Given the description of an element on the screen output the (x, y) to click on. 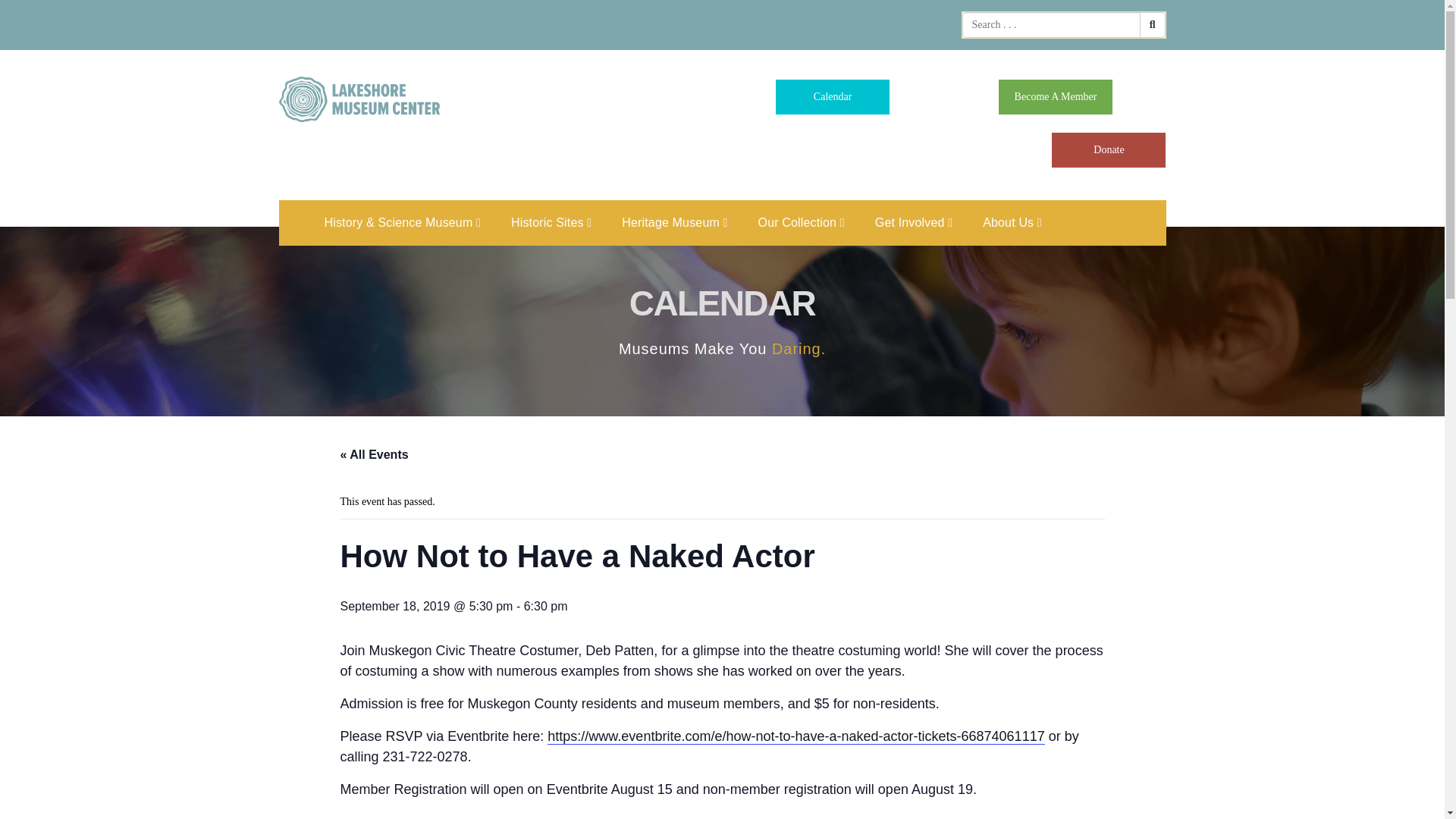
Become A Member (1055, 96)
Lakeshore Museum 		Center Logo (359, 99)
Historic Sites (551, 222)
Calendar (832, 96)
Donate (1108, 149)
Heritage Museum (673, 222)
